Given the description of an element on the screen output the (x, y) to click on. 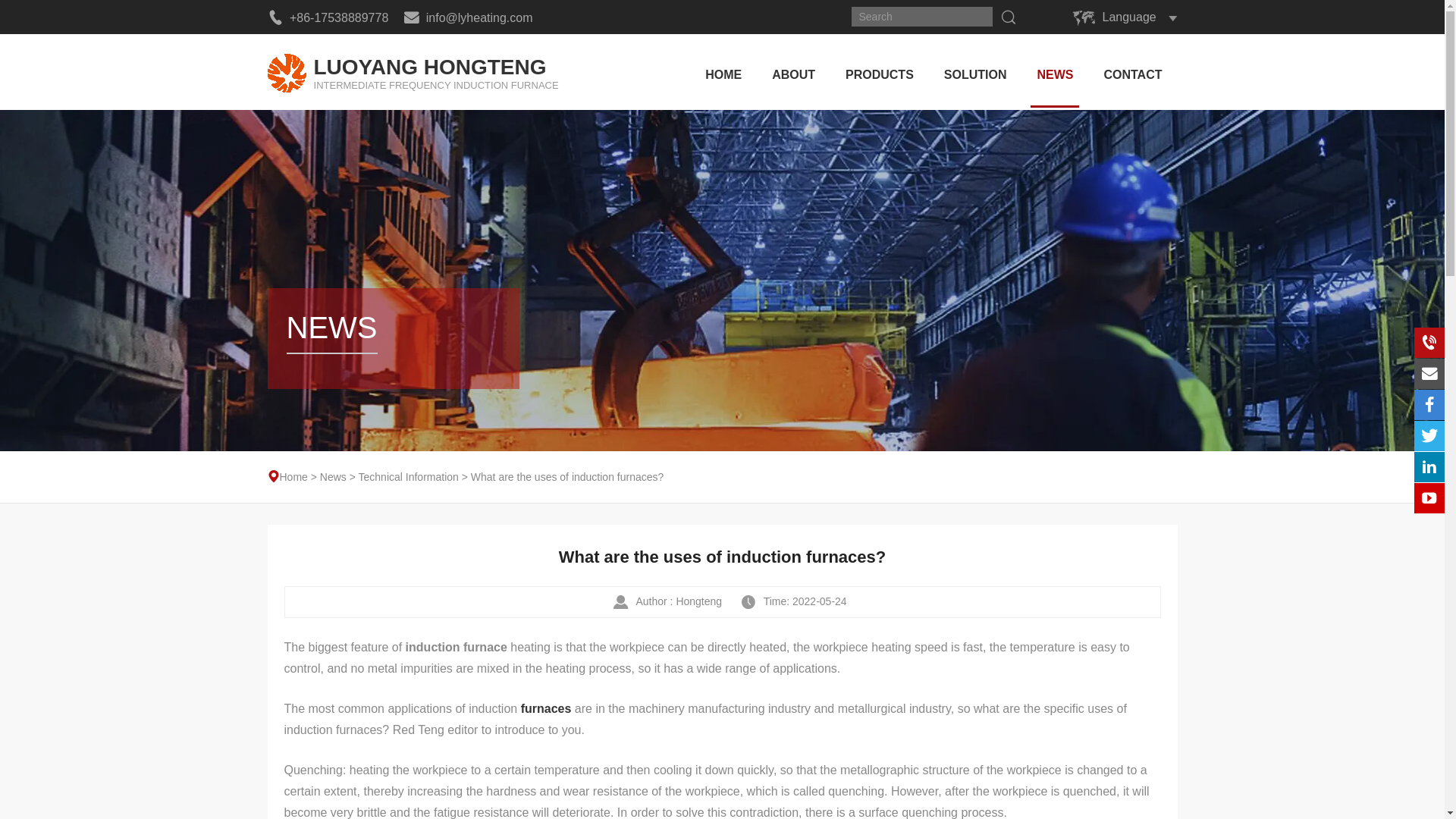
Language (1129, 16)
Hongteng induction furnace and rolling mill (411, 71)
PRODUCTS (878, 71)
ABOUT (793, 71)
SOLUTION (411, 71)
CONTACT (975, 71)
